Given the description of an element on the screen output the (x, y) to click on. 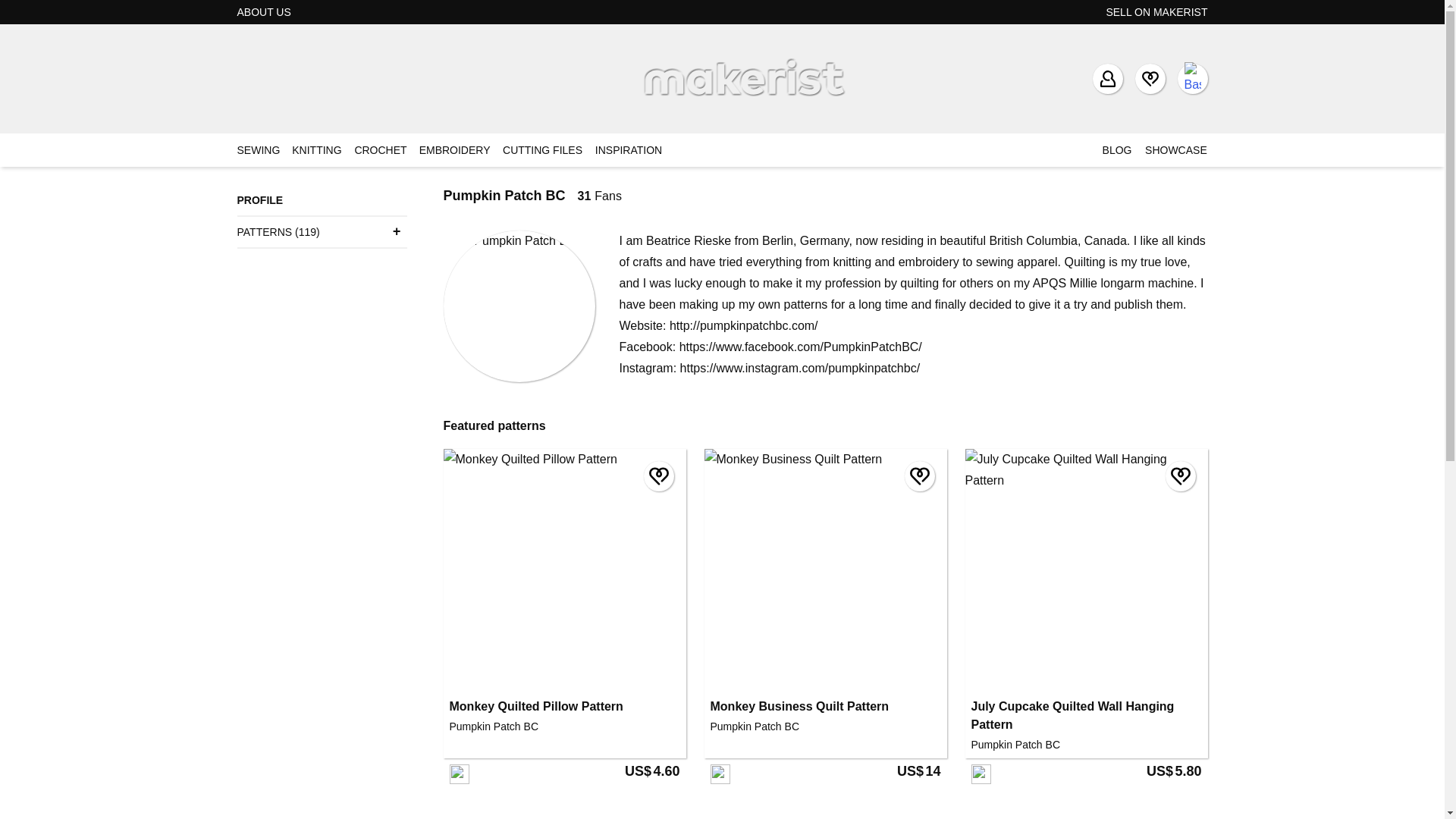
Inspiration (628, 150)
SHOWCASE (1175, 150)
SEWING (257, 150)
Cutting files (542, 150)
BLOG (1117, 150)
Sewing (257, 150)
Crochet (379, 150)
EMBROIDERY (454, 150)
ABOUT US (262, 11)
Blog (1117, 150)
Basket (1191, 78)
Knitting (317, 150)
INSPIRATION (628, 150)
CUTTING FILES (542, 150)
Showcase (1175, 150)
